Given the description of an element on the screen output the (x, y) to click on. 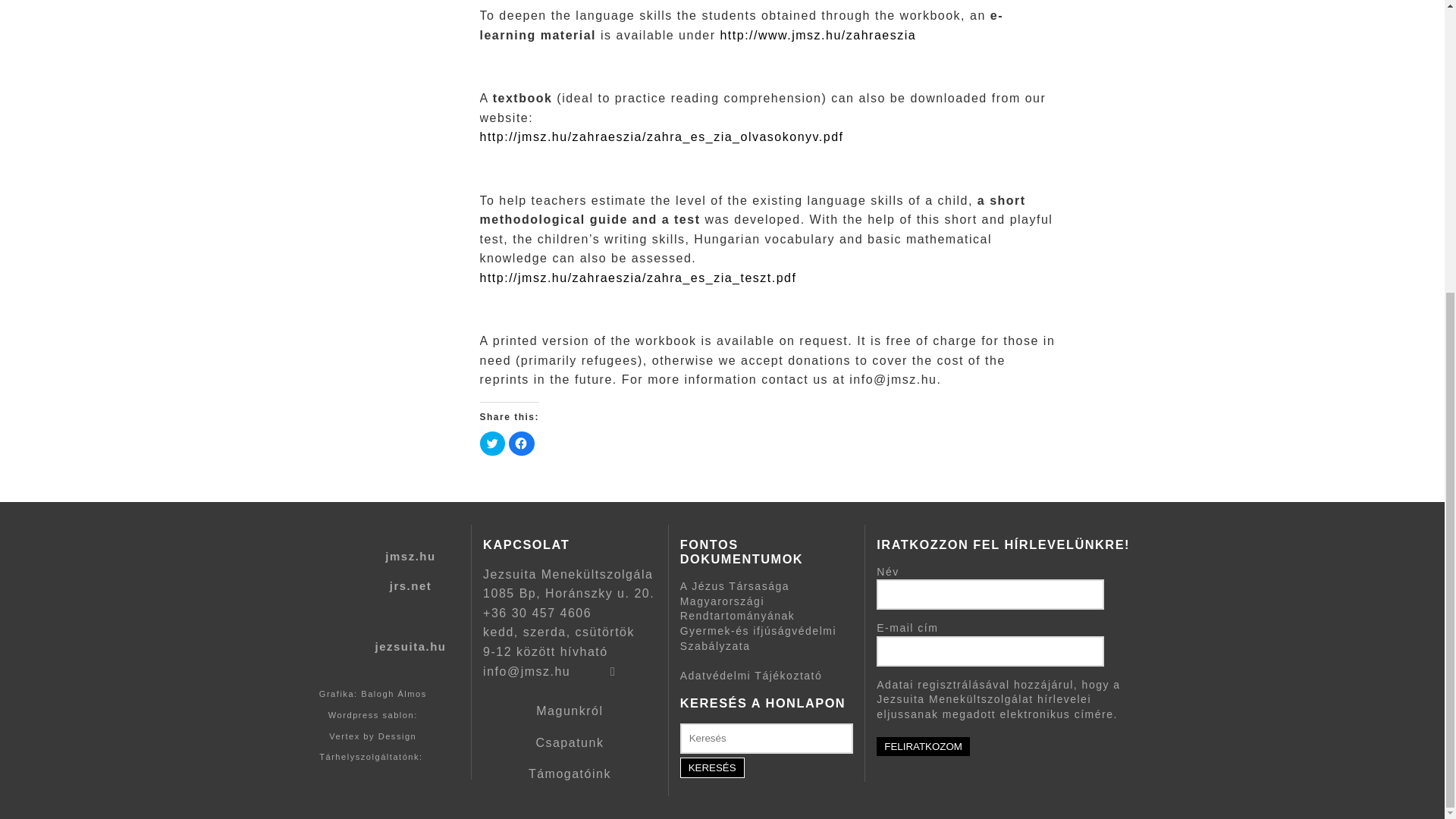
Feliratkozom (922, 746)
Click to share on Twitter (492, 443)
Feliratkozom (922, 746)
Vertex by Dessign (372, 736)
jrs.net (411, 585)
Csapatunk (569, 742)
Wordpress (353, 714)
JMSZ (329, 568)
jezsuita.hu (409, 645)
Click to share on Facebook (521, 443)
